Given the description of an element on the screen output the (x, y) to click on. 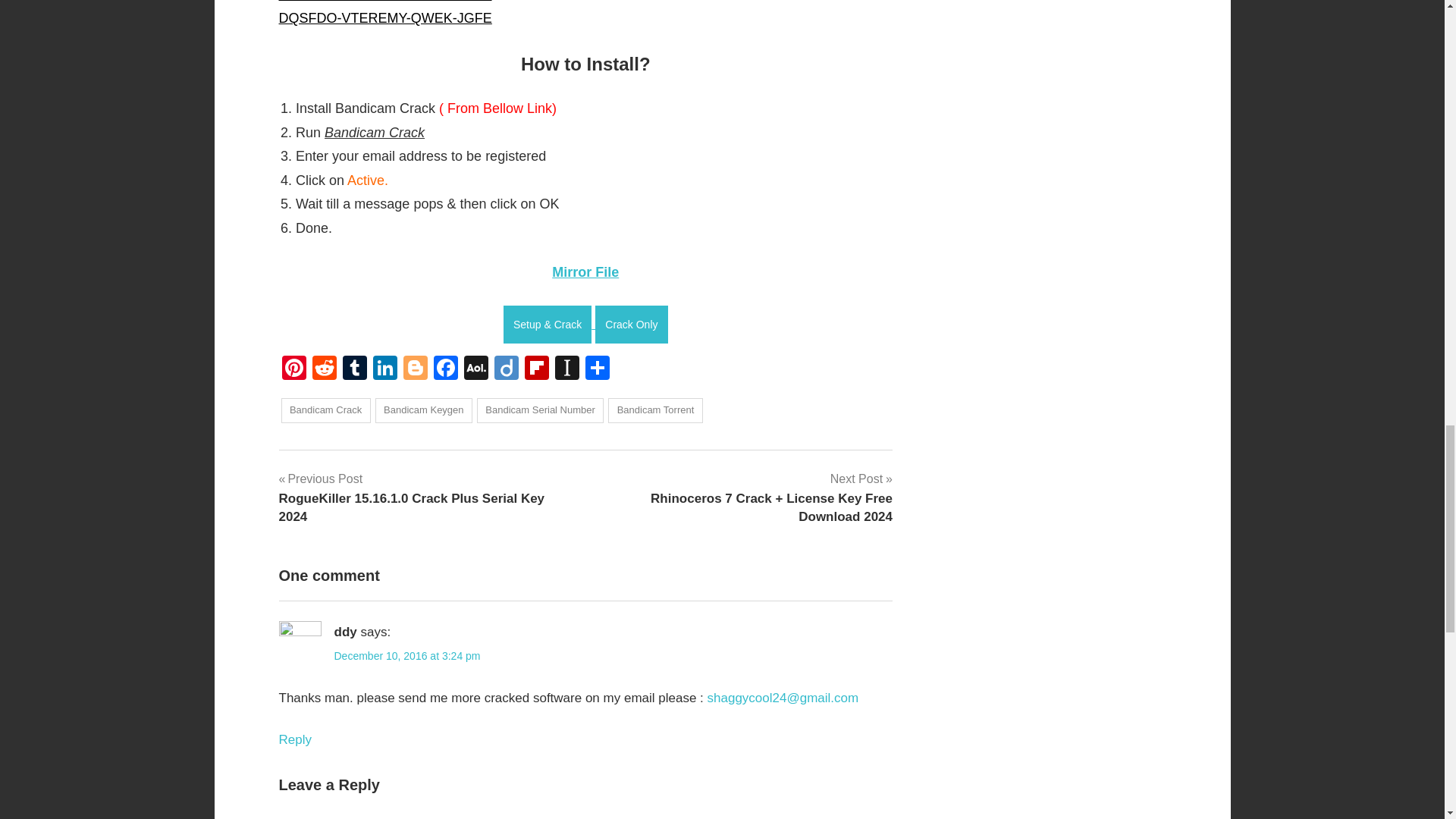
Diigo (506, 369)
Reply (295, 739)
Bandicam Torrent (654, 410)
Flipboard (536, 369)
Facebook (445, 369)
Bandicam Keygen (423, 410)
AOL Mail (476, 369)
Instapaper (566, 369)
Share (597, 369)
Bandicam Crack (325, 410)
